Given the description of an element on the screen output the (x, y) to click on. 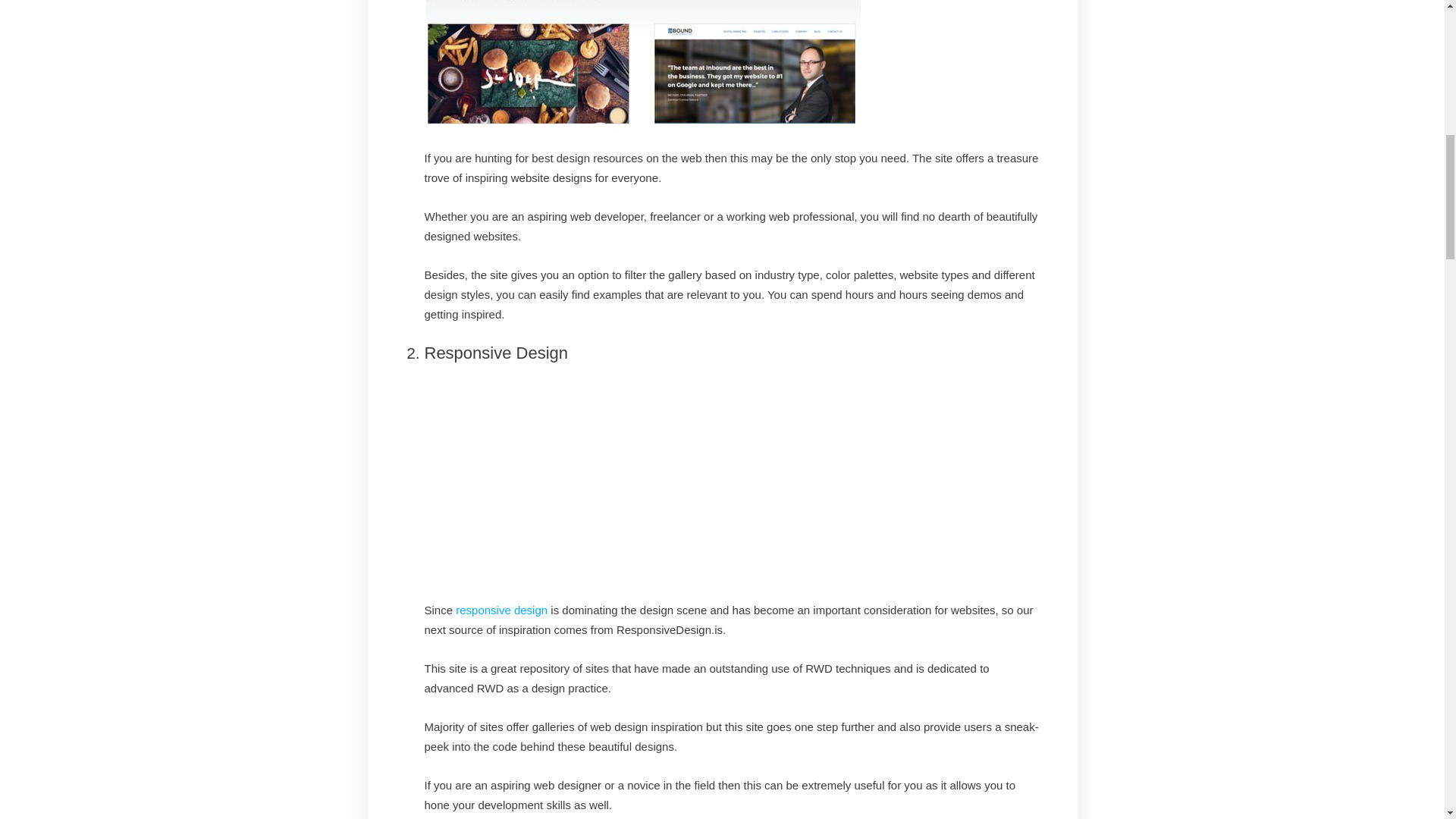
responsive design (501, 609)
